Given the description of an element on the screen output the (x, y) to click on. 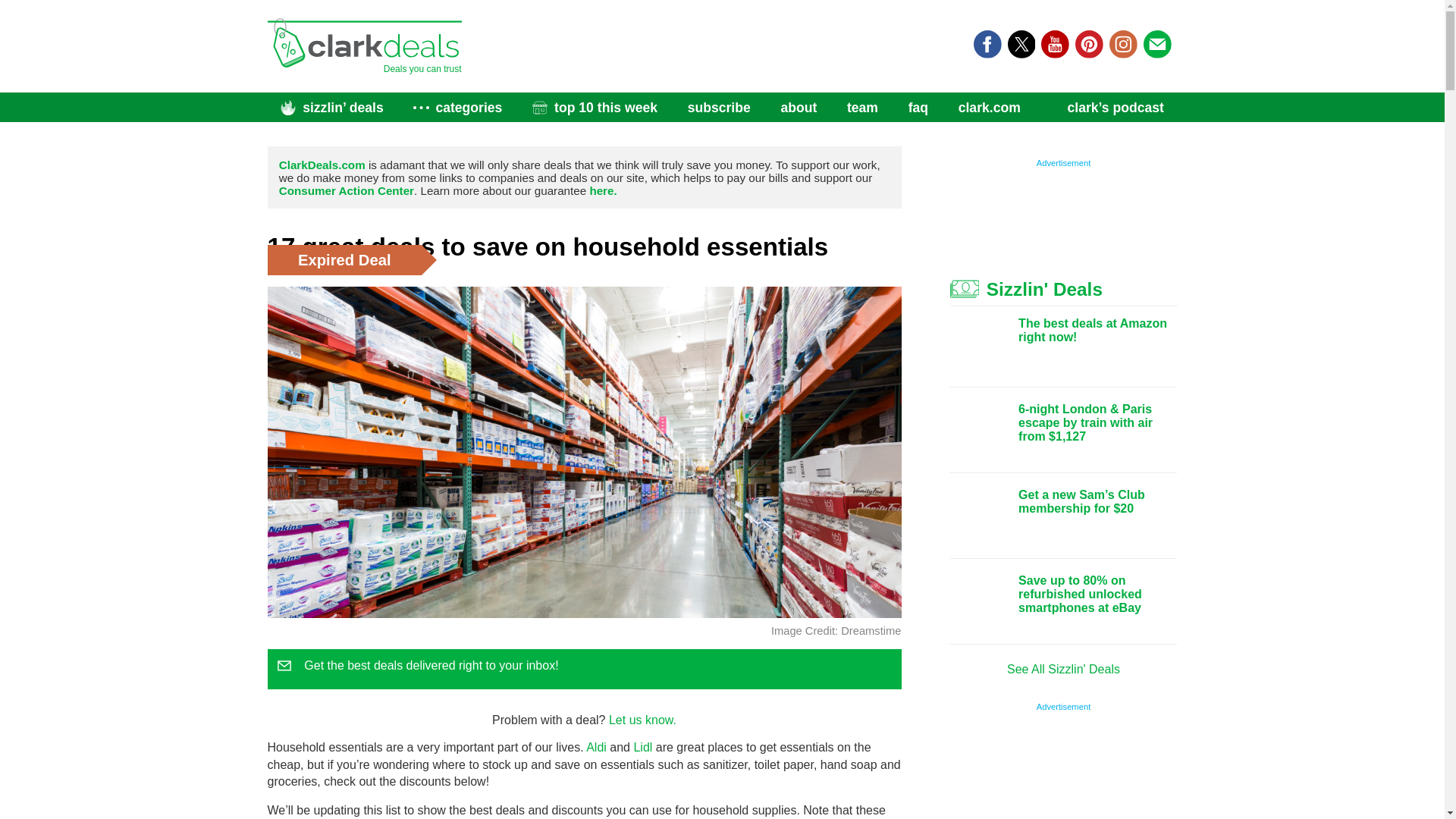
Contact Us (642, 719)
